Given the description of an element on the screen output the (x, y) to click on. 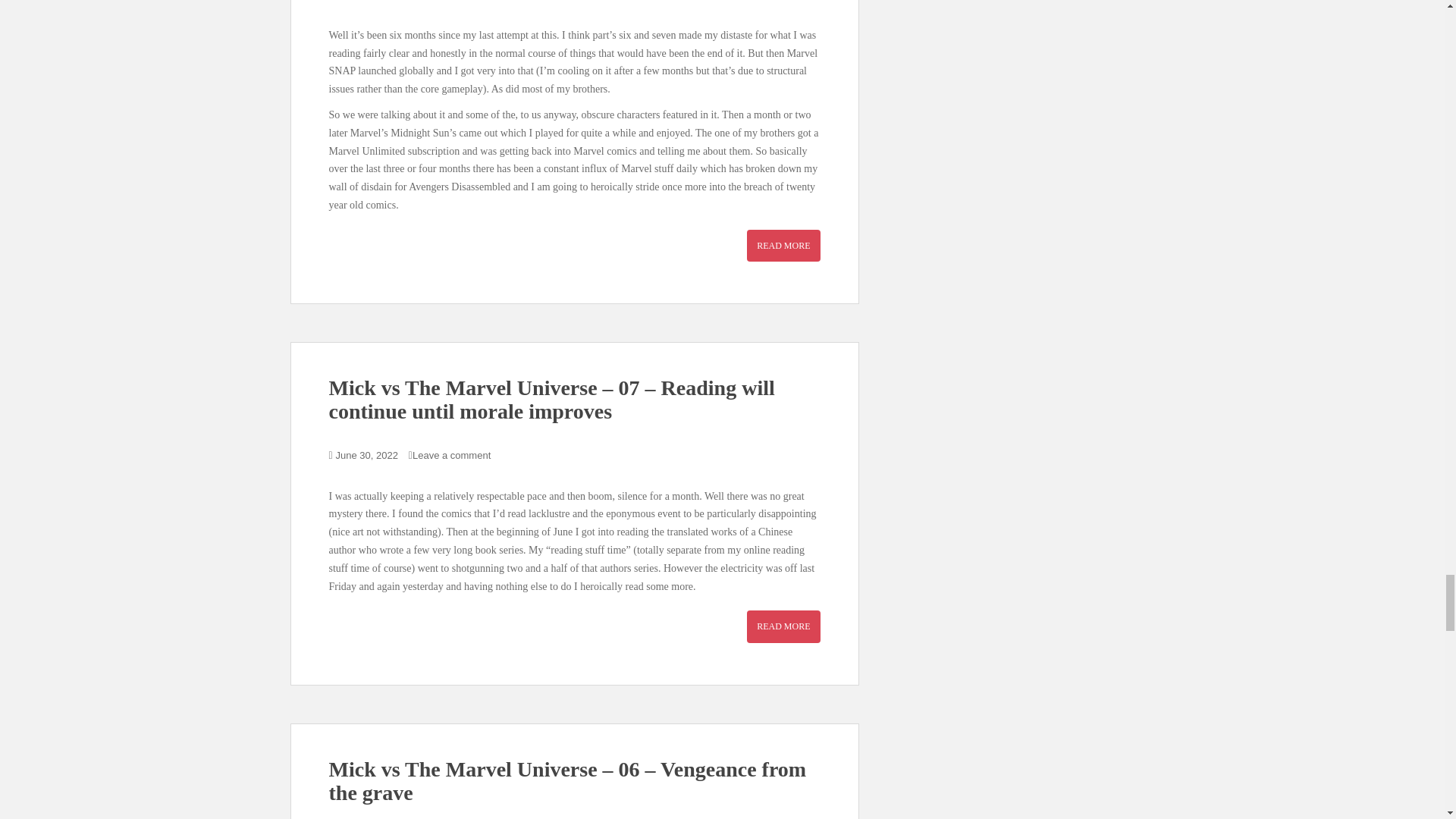
June 30, 2022 (366, 455)
READ MORE (782, 245)
READ MORE (782, 626)
Leave a comment (451, 455)
